Given the description of an element on the screen output the (x, y) to click on. 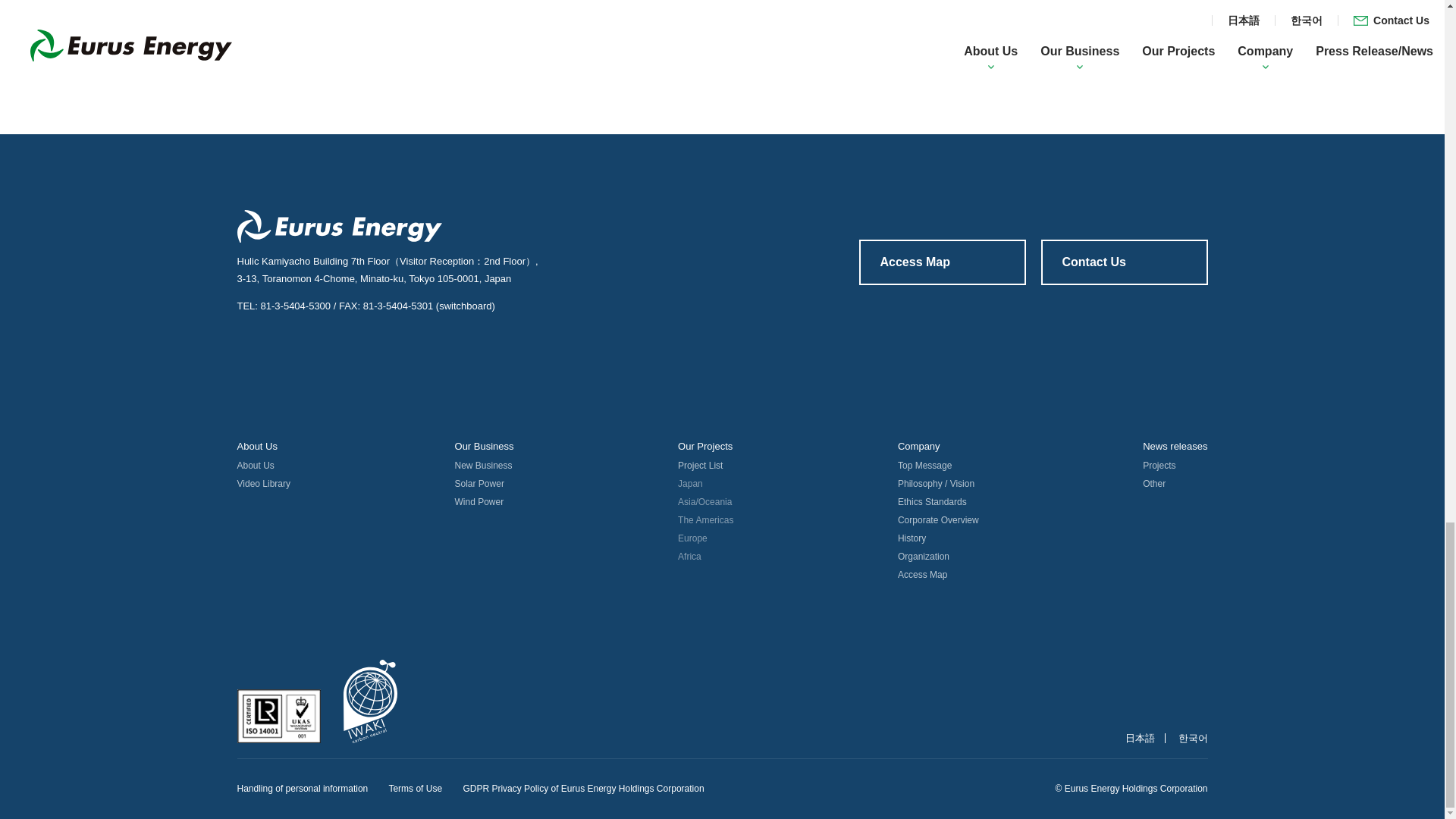
Access Map (942, 262)
Release (170, 84)
TOP (40, 84)
